Given the description of an element on the screen output the (x, y) to click on. 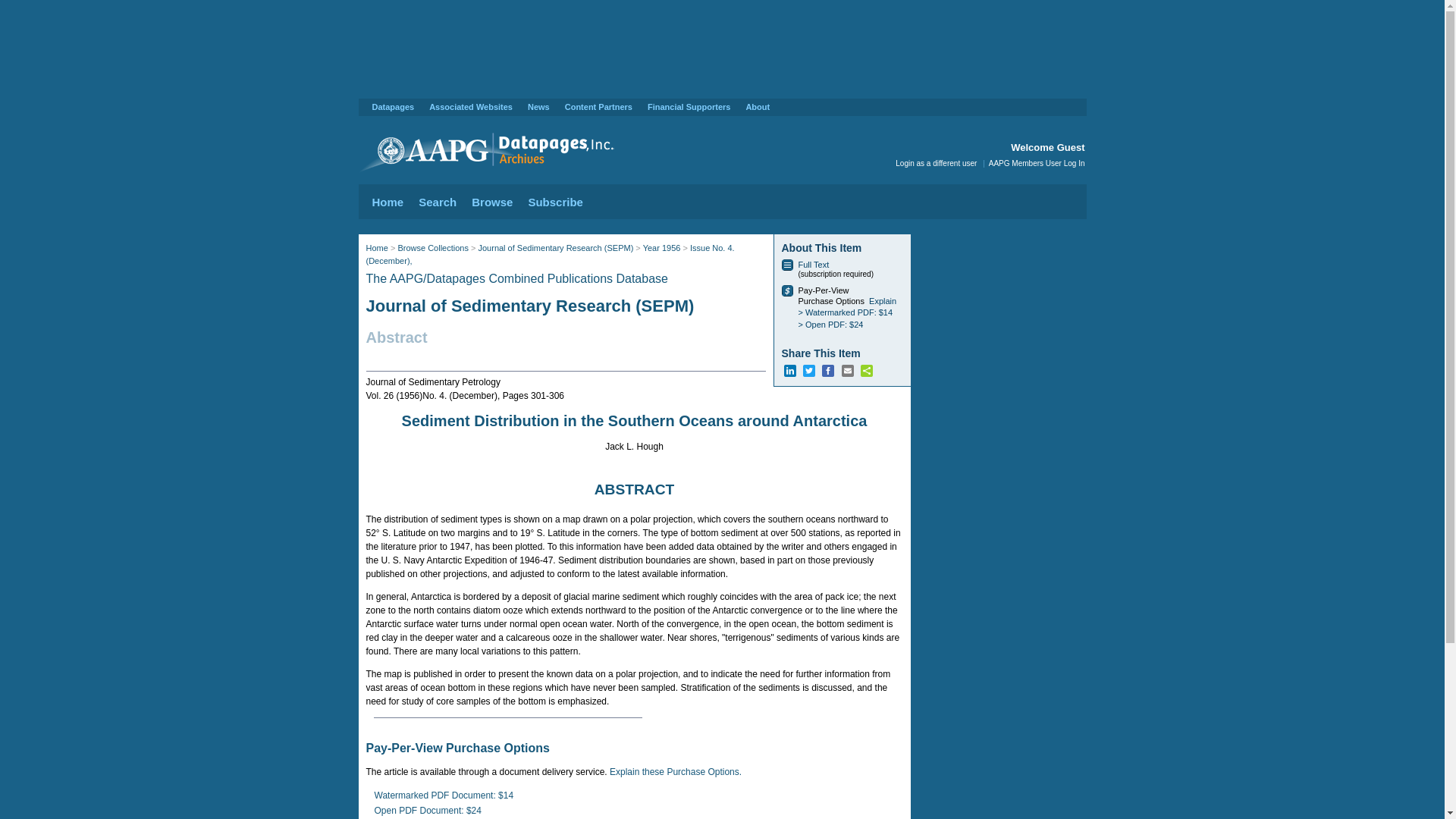
Browse (491, 201)
Subscribe (555, 201)
Datapages (392, 106)
Login as a different user (935, 162)
News (538, 106)
Content Partners (597, 106)
AAPG Members User Log In (1036, 162)
Search (438, 201)
Home (387, 201)
Financial Supporters (688, 106)
Associated Websites (470, 106)
About (757, 106)
